Given the description of an element on the screen output the (x, y) to click on. 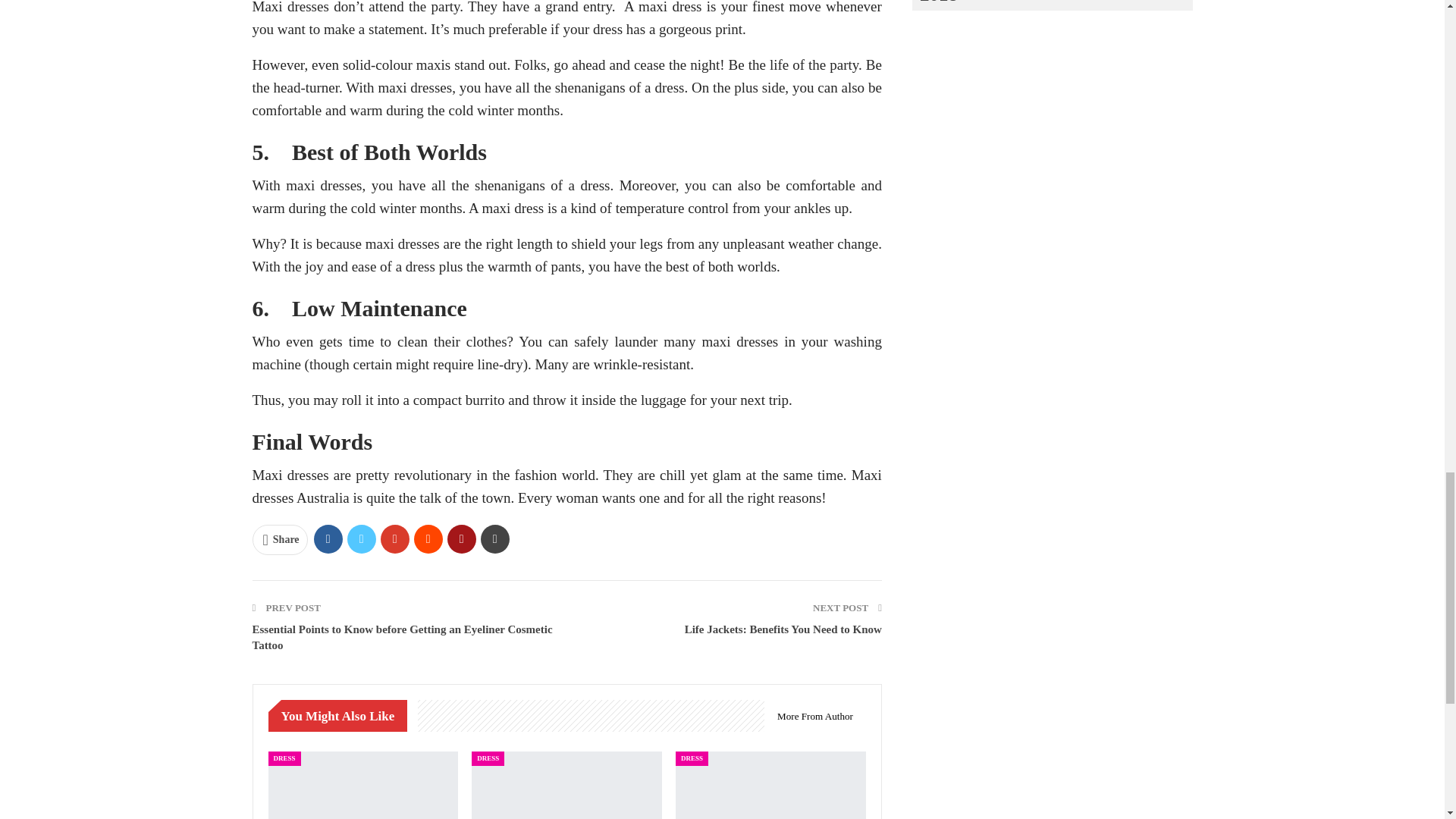
Where to Buy a Stylish Party Dress (770, 785)
How to style casual teacher outfits for maximum impact? (566, 785)
